Given the description of an element on the screen output the (x, y) to click on. 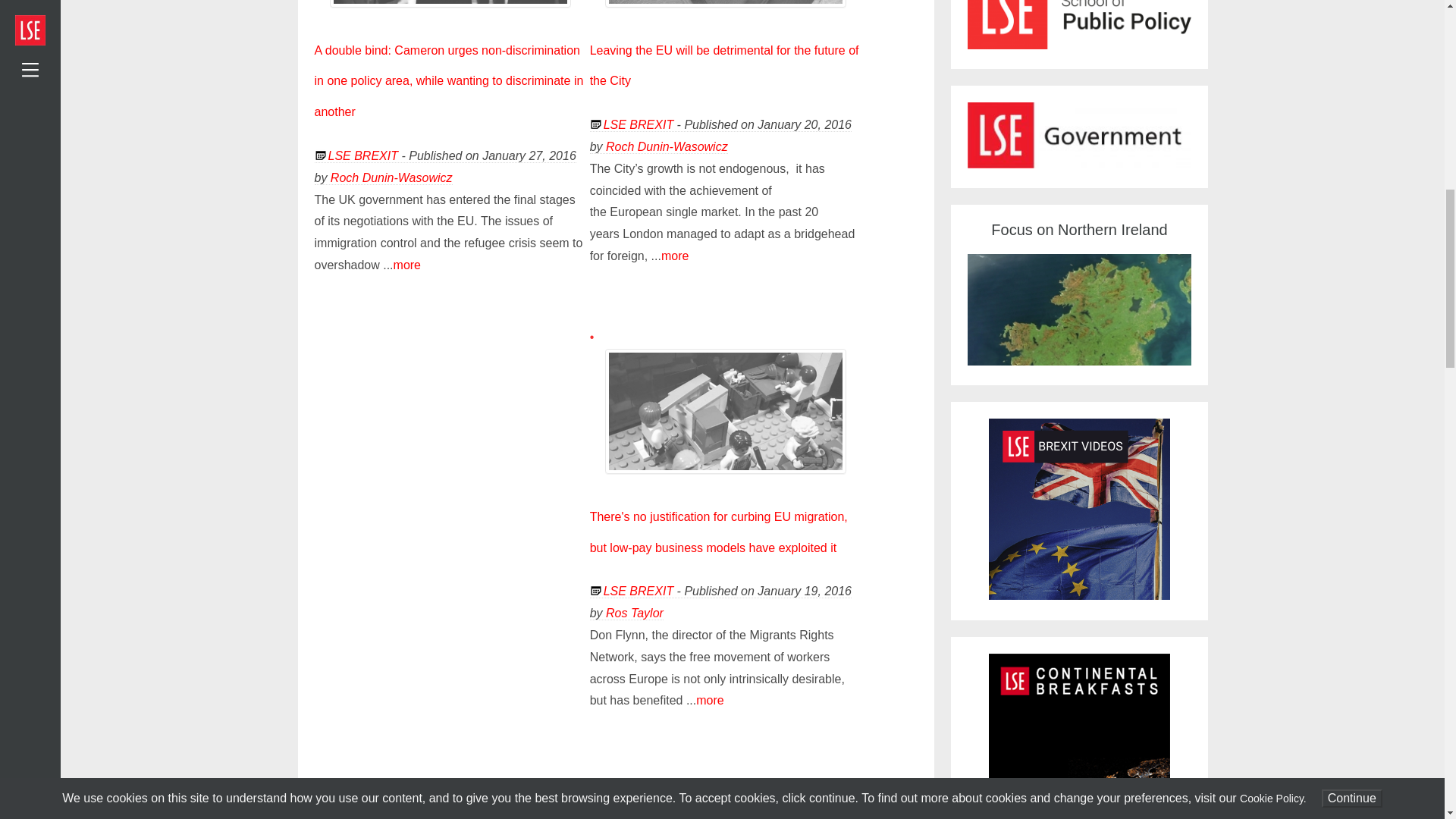
Roch Dunin-Wasowicz (666, 146)
more (674, 255)
LSE BREXIT (362, 155)
Ros Taylor (634, 612)
LSE BREXIT (638, 590)
LSE BREXIT (638, 124)
more (709, 699)
